Given the description of an element on the screen output the (x, y) to click on. 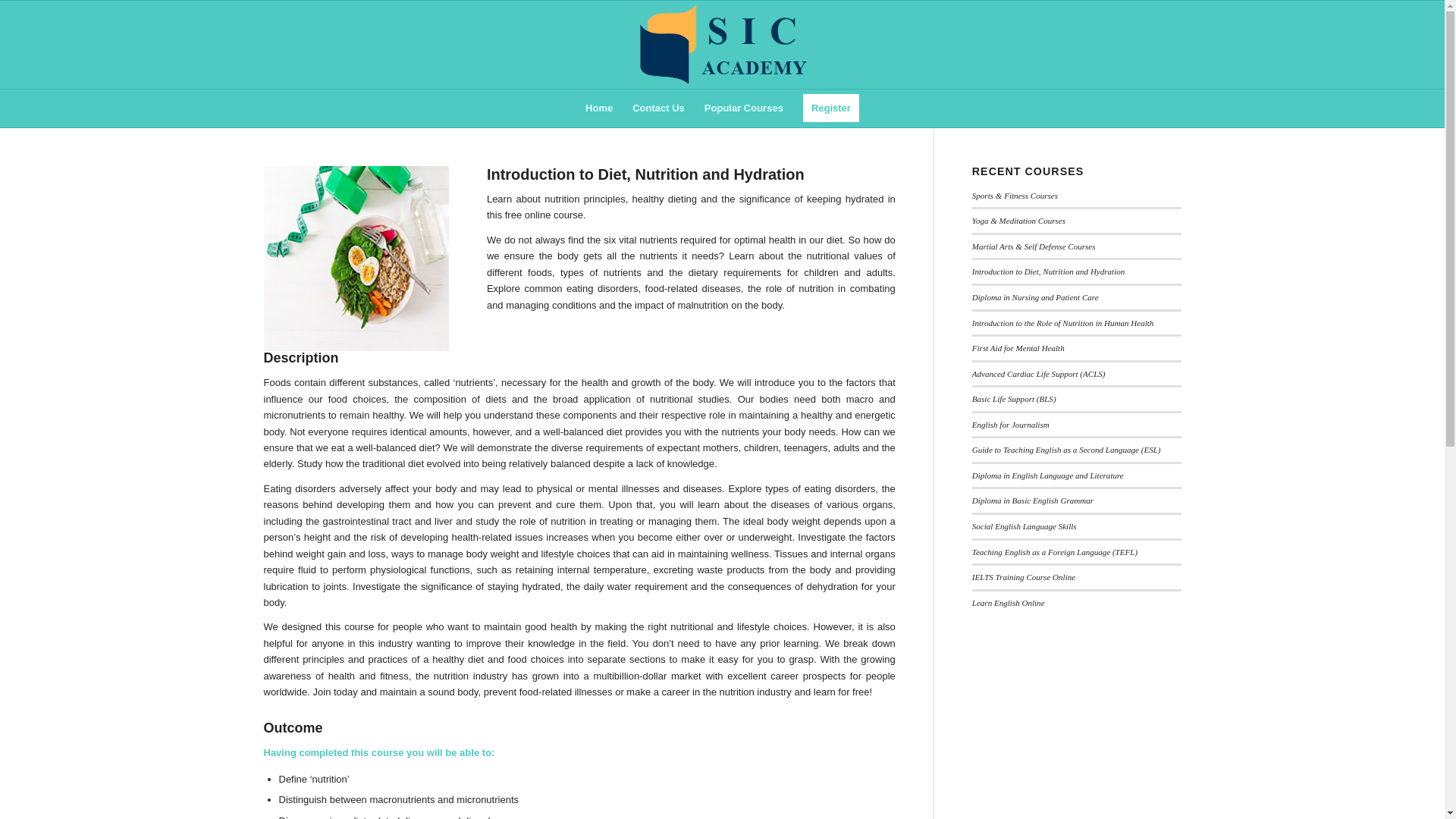
Contact Us (658, 108)
Introduction to Diet, Nutrition and Hydration (355, 258)
Register (831, 108)
Introduction to Diet, Nutrition and Hydration (1048, 271)
Popular Courses (743, 108)
Diploma in Nursing and Patient Care (1035, 297)
Home (599, 108)
